Given the description of an element on the screen output the (x, y) to click on. 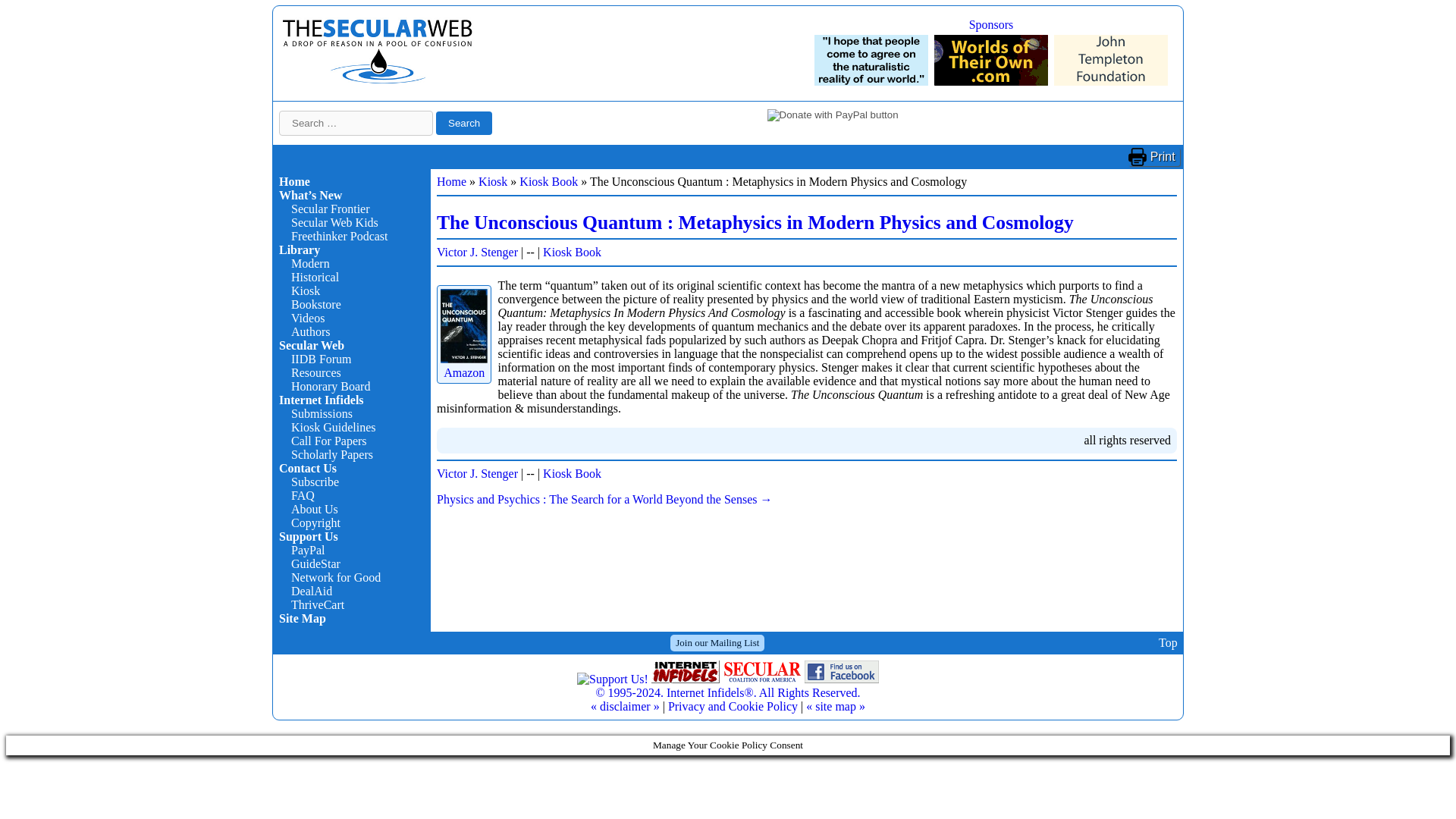
Internet Infidels (377, 79)
About Us (314, 508)
Submissions (321, 413)
Posts by Victor J. Stenger (477, 472)
Modern (310, 263)
Resources (315, 372)
Authors (310, 331)
ThriveCart (317, 604)
Library (299, 249)
Subscribe (315, 481)
